Given the description of an element on the screen output the (x, y) to click on. 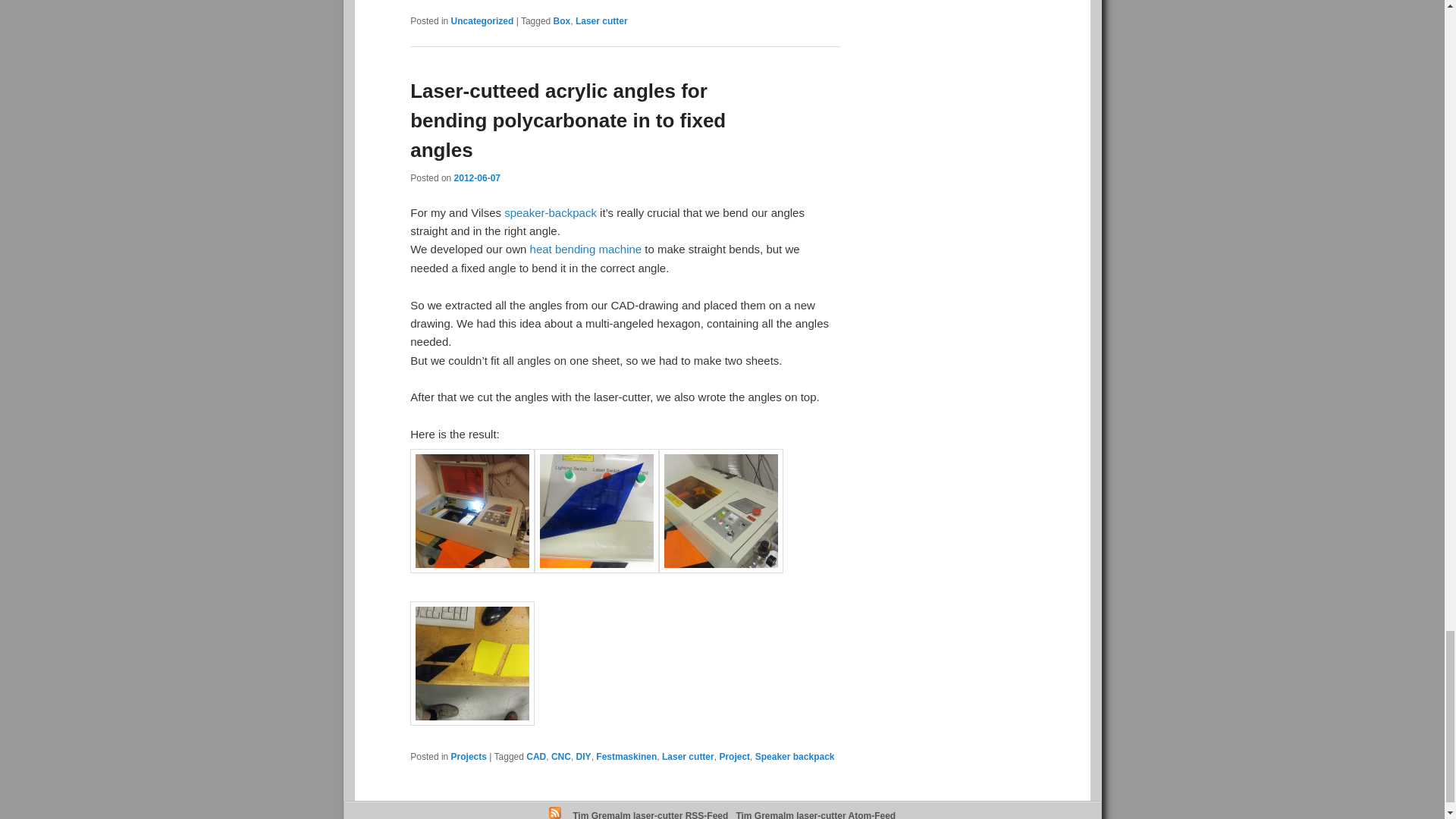
03:46 (477, 177)
heat bending machine (585, 248)
speaker-backpack (549, 212)
